Given the description of an element on the screen output the (x, y) to click on. 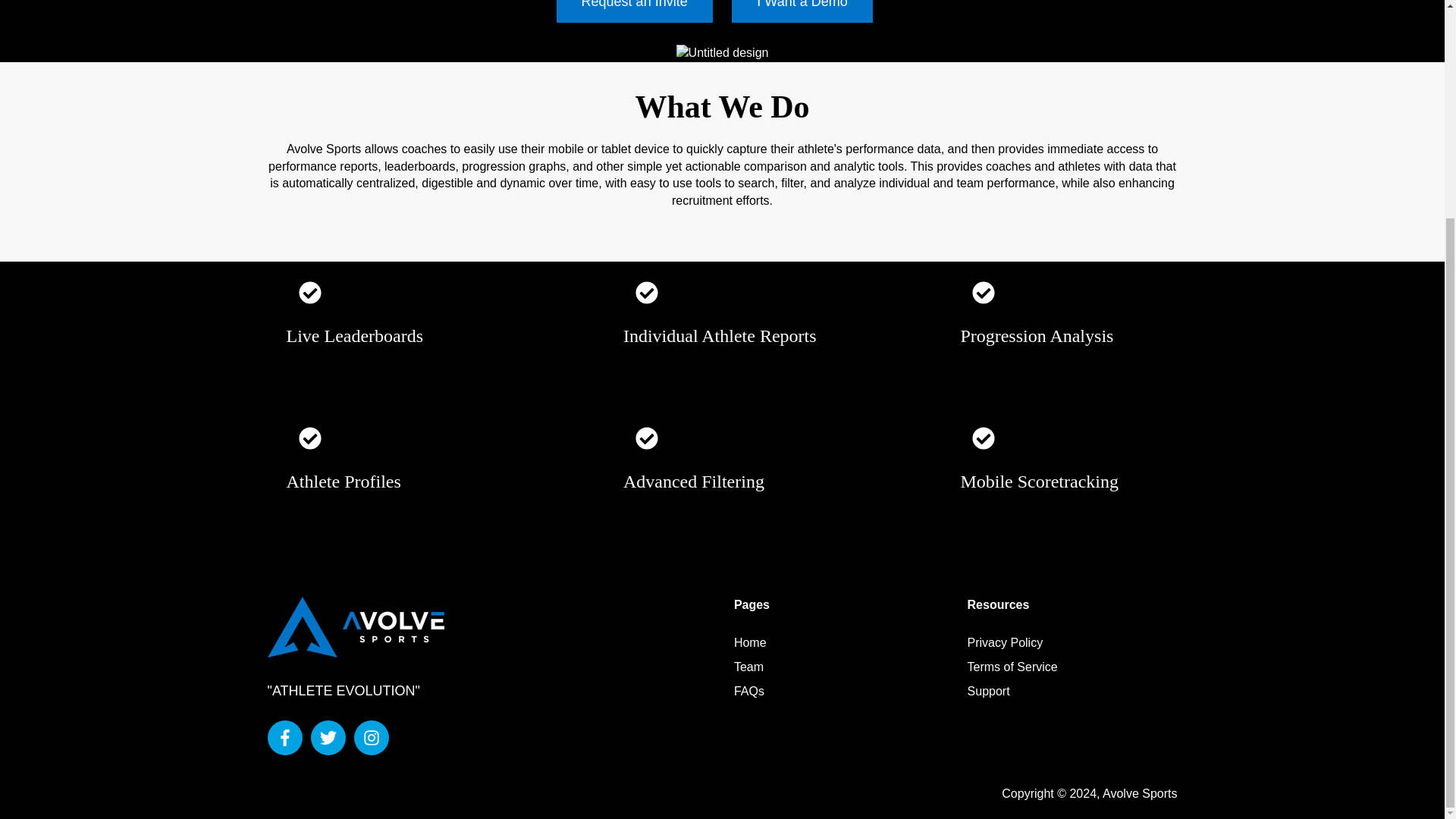
I Want a Demo (802, 11)
Terms of Service (1013, 666)
Untitled design (722, 53)
FAQs (748, 690)
Home (750, 642)
Request an Invite (634, 11)
Support (989, 690)
Avolve Sports Logo (355, 627)
Privacy Policy (1005, 642)
Team (747, 666)
